Given the description of an element on the screen output the (x, y) to click on. 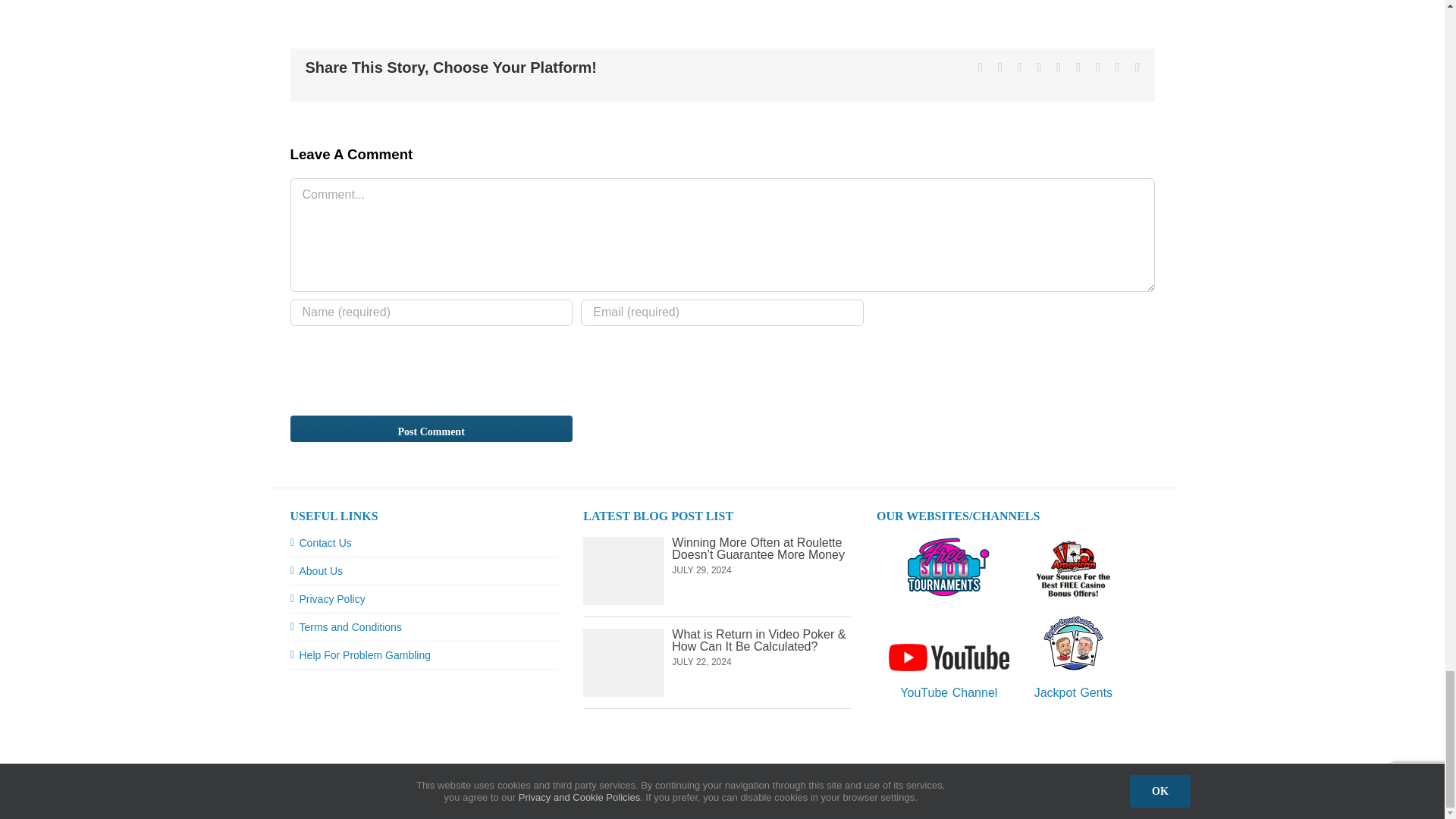
Post Comment (430, 428)
